Given the description of an element on the screen output the (x, y) to click on. 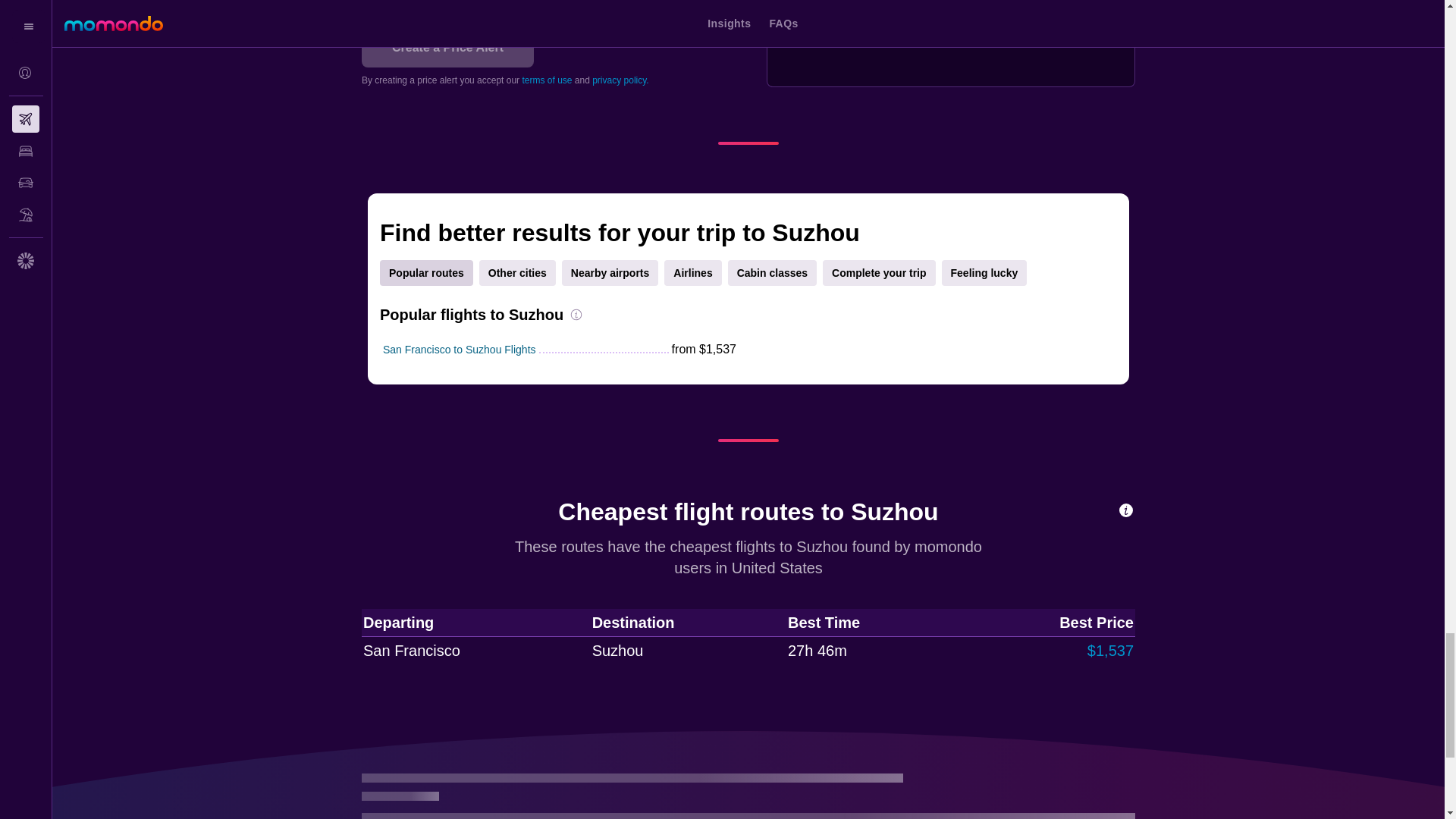
Other cities (517, 272)
Nearby airports (610, 272)
Popular routes (426, 272)
Cabin classes (772, 272)
terms of use (546, 80)
San Francisco to Suzhou Flights (458, 349)
Airlines (691, 272)
Feeling lucky (984, 272)
Complete your trip (878, 272)
Create a Price Alert (447, 47)
